Given the description of an element on the screen output the (x, y) to click on. 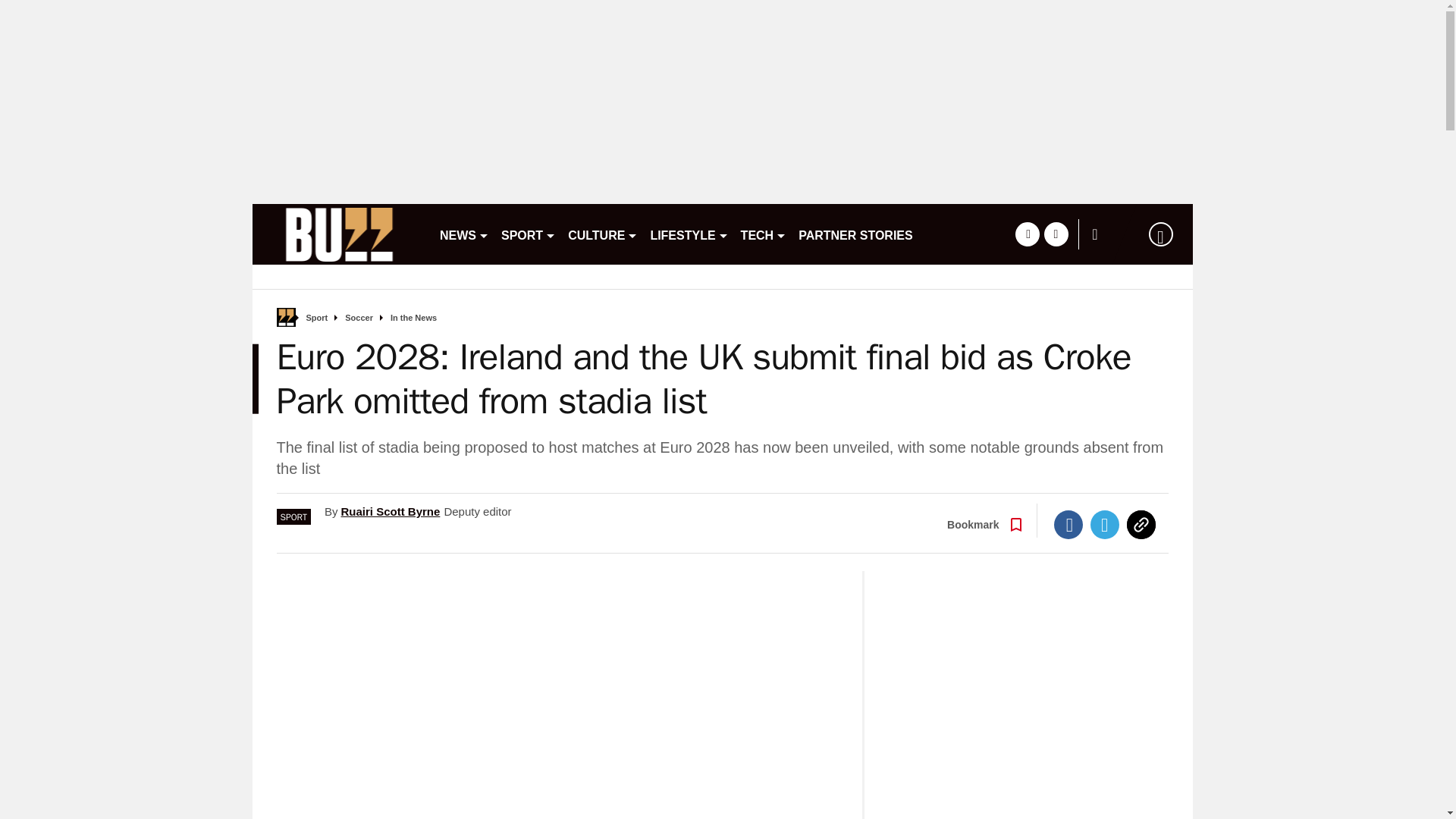
SPORT (528, 233)
facebook (1026, 233)
CULTURE (602, 233)
LIFESTYLE (688, 233)
Facebook (1068, 524)
NEWS (464, 233)
buzz (338, 233)
PARTNER STORIES (855, 233)
twitter (1055, 233)
Twitter (1104, 524)
TECH (764, 233)
